Given the description of an element on the screen output the (x, y) to click on. 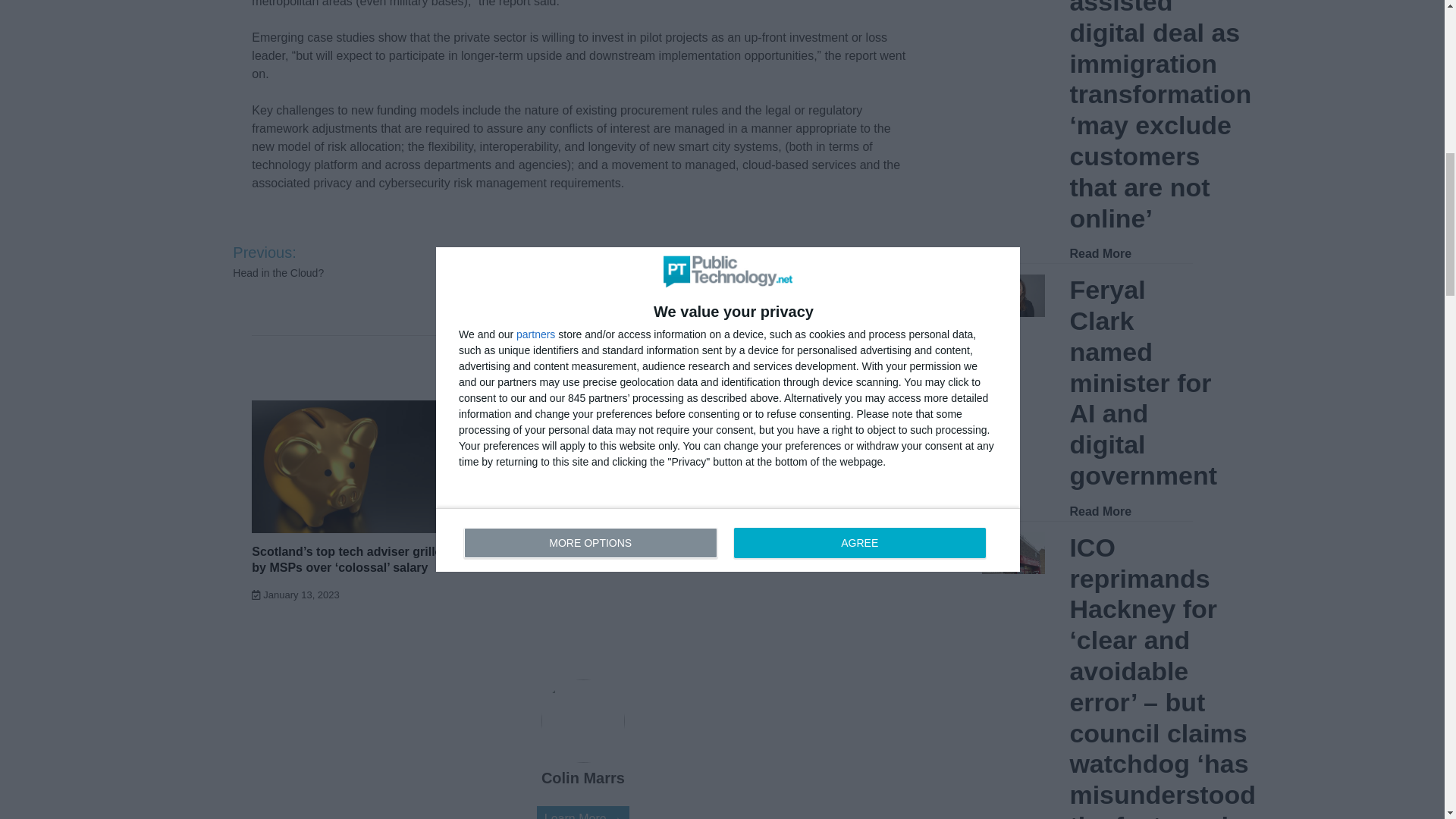
Previous: Head in the Cloud? (311, 260)
January 13, 2023 (295, 594)
Critics call for insider-trading probe into Braverman emails (565, 426)
November 4, 2022 (527, 461)
Next: What the doctor ordered (855, 260)
